Given the description of an element on the screen output the (x, y) to click on. 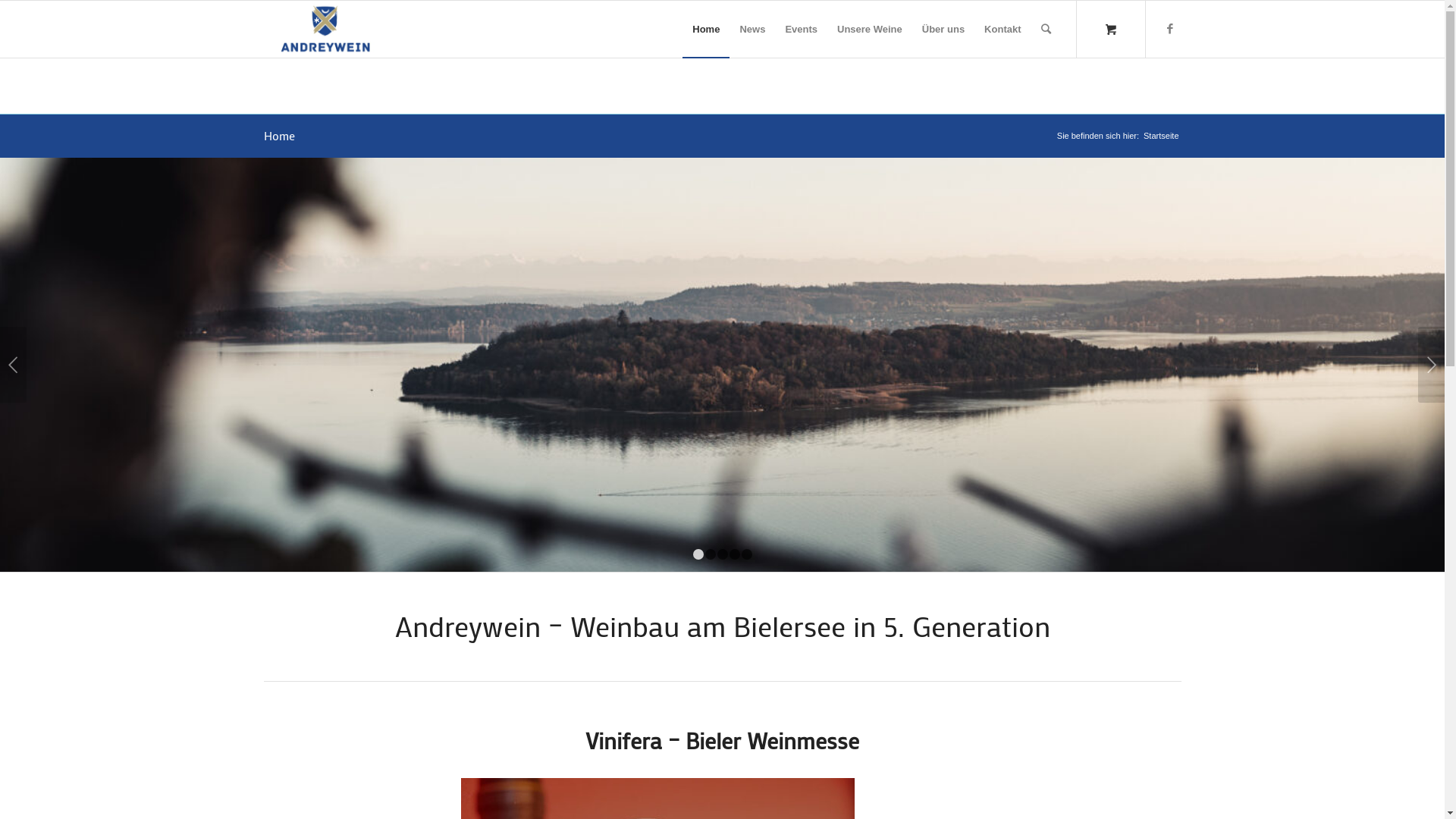
Kontakt Element type: text (1002, 28)
Home Element type: text (705, 28)
Facebook Element type: hover (1169, 27)
Unsere Weine Element type: text (869, 28)
LigerzHerbst_2020 (8 von 15) Element type: hover (722, 364)
Events Element type: text (801, 28)
Weiter Element type: text (1431, 364)
1 Element type: text (698, 554)
2 Element type: text (710, 554)
4 Element type: text (734, 554)
5 Element type: text (746, 554)
3 Element type: text (722, 554)
News Element type: text (752, 28)
Home Element type: text (278, 135)
